Given the description of an element on the screen output the (x, y) to click on. 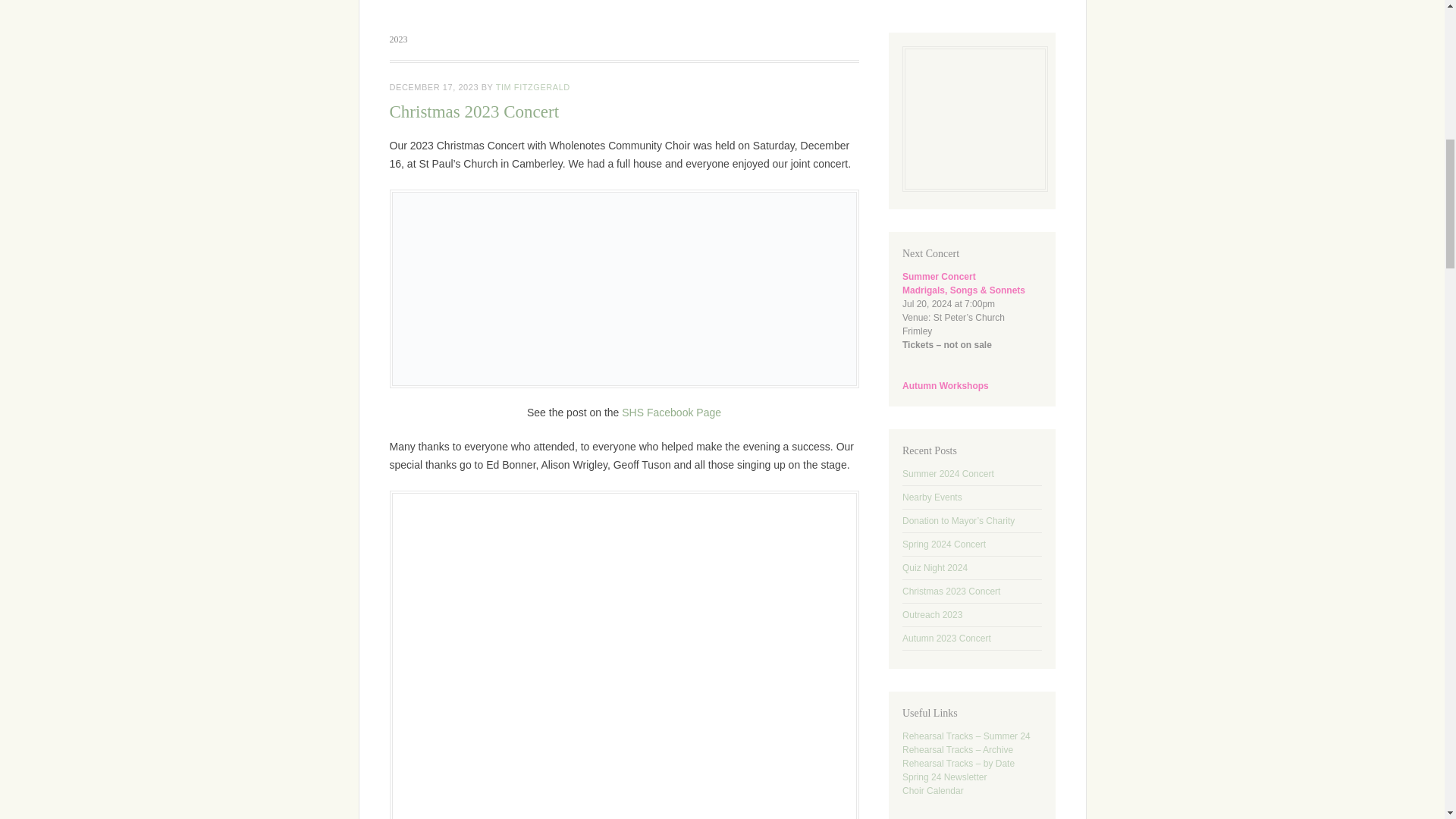
Christmas 2023 Concert (474, 111)
10:00 (434, 86)
Surrey Heath Singers (722, 7)
TIM FITZGERALD (533, 86)
SHS Facebook Page (670, 412)
DECEMBER 17, 2023 (434, 86)
View all posts by Tim FitzGerald (533, 86)
